Given the description of an element on the screen output the (x, y) to click on. 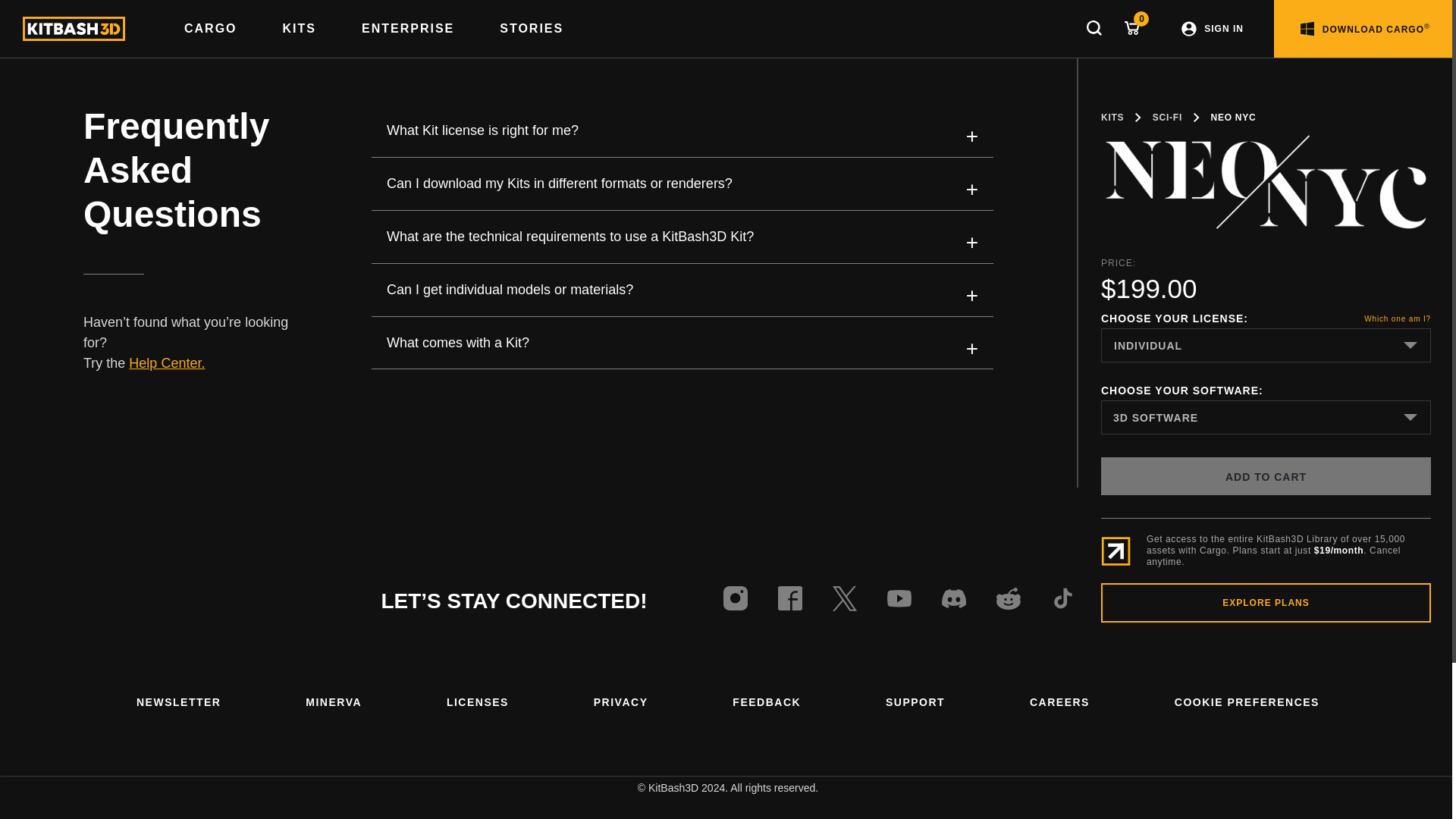
Discord (954, 600)
Youtube (898, 600)
Help Center. (167, 363)
